Given the description of an element on the screen output the (x, y) to click on. 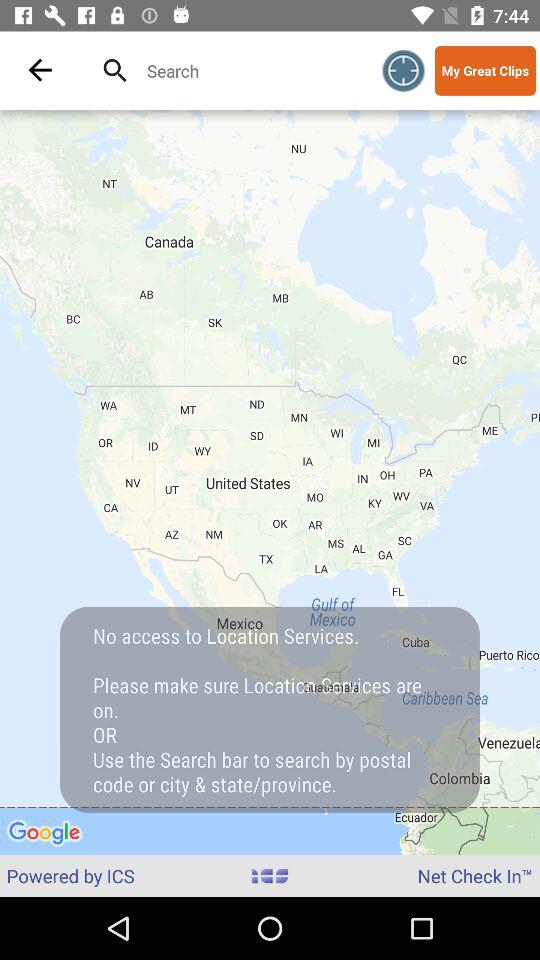
press the icon above powered by ics (270, 482)
